Given the description of an element on the screen output the (x, y) to click on. 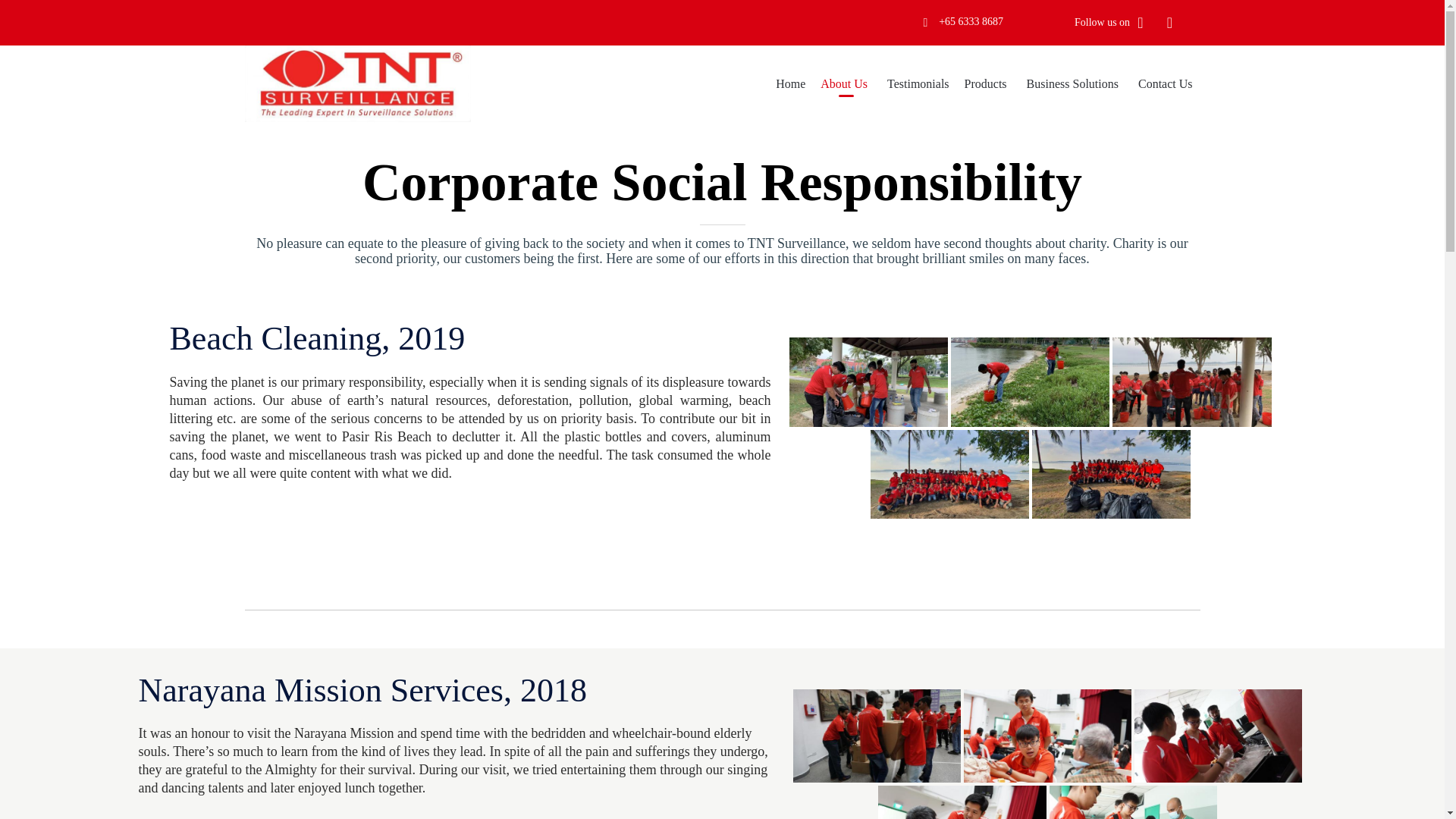
Business Solutions (1075, 84)
Testimonials (917, 84)
Home (790, 84)
TNT Surveillance (357, 83)
Products (987, 84)
About Us (845, 84)
Contact Us (1165, 84)
